Given the description of an element on the screen output the (x, y) to click on. 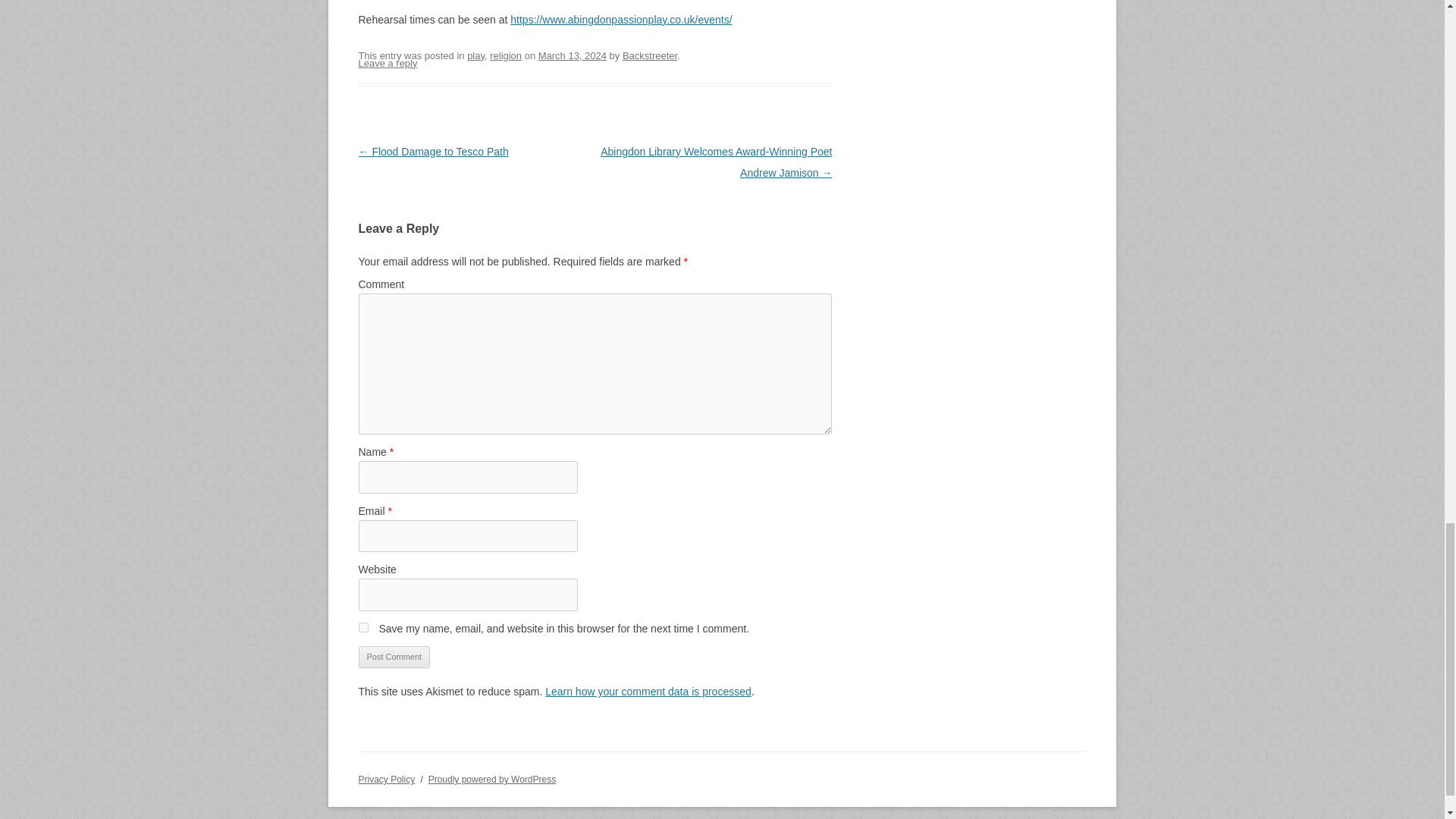
Backstreeter (650, 55)
play (475, 55)
Post Comment (393, 657)
March 13, 2024 (572, 55)
Leave a reply (387, 62)
Privacy Policy (386, 778)
9:15 pm (572, 55)
View all posts by Backstreeter (650, 55)
yes (363, 627)
religion (505, 55)
